Given the description of an element on the screen output the (x, y) to click on. 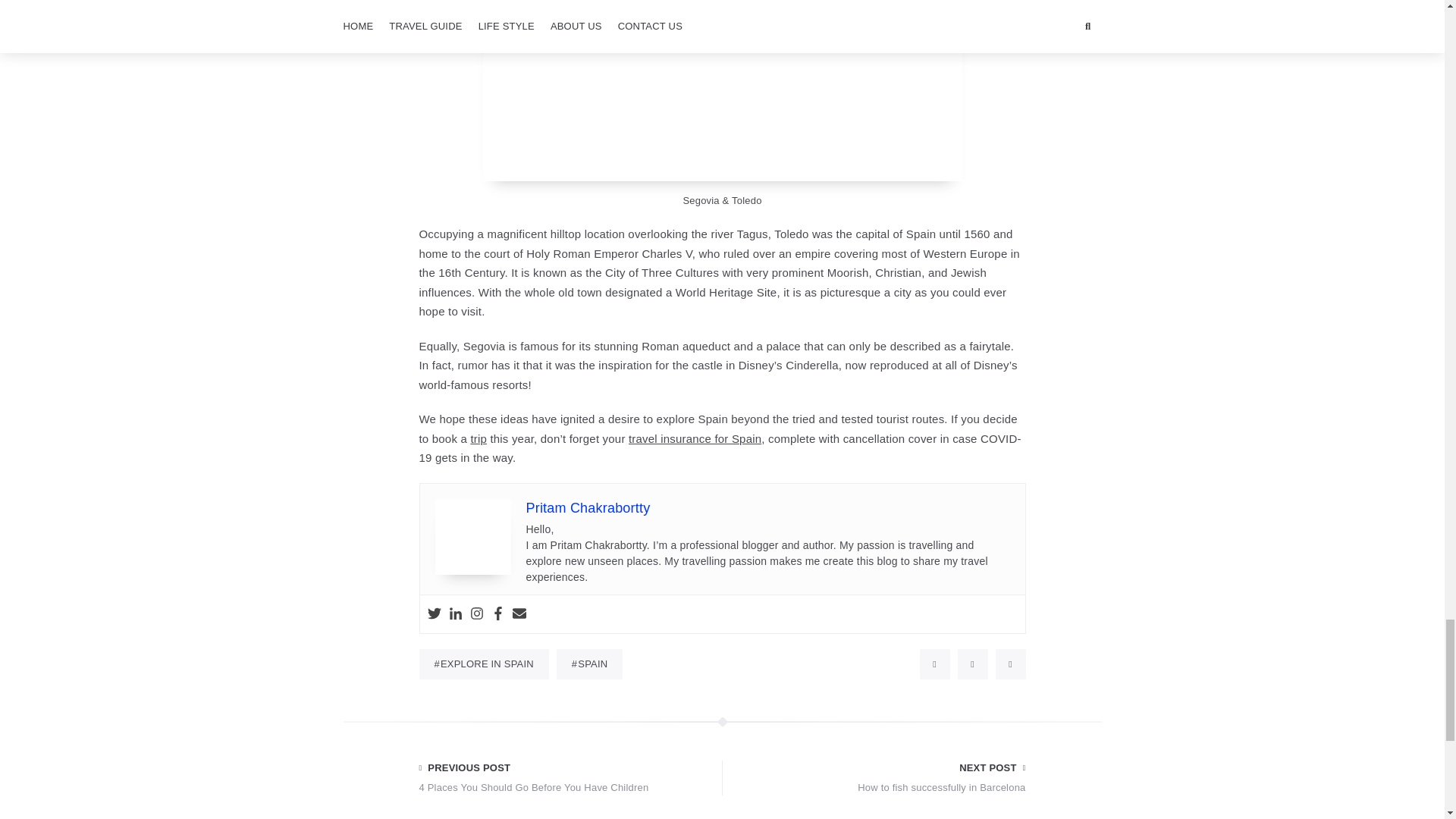
Facebook (498, 613)
SPAIN (879, 778)
Twitter (589, 664)
Linkedin (434, 613)
trip (455, 613)
User email (478, 438)
Instagram (518, 613)
EXPLORE IN SPAIN (476, 613)
Pritam Chakrabortty (483, 664)
